Given the description of an element on the screen output the (x, y) to click on. 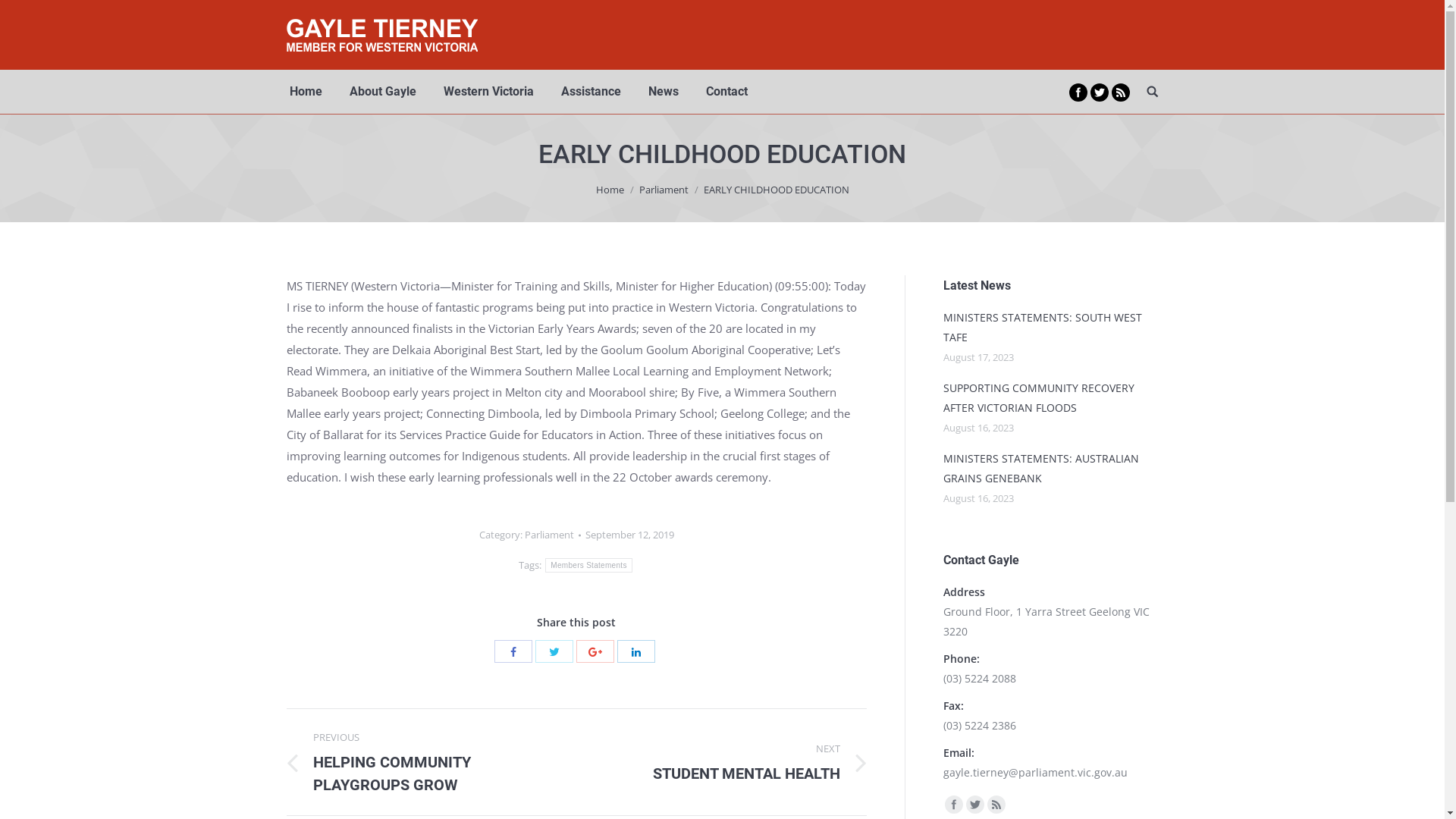
Facebook Element type: hover (513, 651)
Home Element type: text (305, 91)
Parliament Element type: text (662, 189)
Members Statements Element type: text (588, 565)
PREVIOUS
Previous post:
HELPING COMMUNITY PLAYGROUPS GROW Element type: text (420, 762)
About Gayle Element type: text (381, 91)
Facebook Element type: hover (1078, 92)
MINISTERS STATEMENTS: SOUTH WEST TAFE Element type: text (1050, 327)
Contact Element type: text (725, 91)
Home Element type: text (610, 189)
NEXT
Next post:
STUDENT MENTAL HEALTH Element type: text (732, 762)
Assistance Element type: text (591, 91)
MINISTERS STATEMENTS: AUSTRALIAN GRAINS GENEBANK Element type: text (1050, 468)
Western Victoria Element type: text (487, 91)
Go! Element type: text (18, 14)
Parliament Element type: text (549, 534)
September 12, 2019 Element type: text (629, 534)
Twitter Element type: hover (975, 804)
Google+ Element type: hover (595, 651)
  Element type: text (1152, 90)
LinkedIn Element type: hover (636, 651)
Rss Element type: hover (996, 804)
SUPPORTING COMMUNITY RECOVERY AFTER VICTORIAN FLOODS Element type: text (1050, 397)
News Element type: text (662, 91)
Facebook Element type: hover (953, 804)
Twitter Element type: hover (554, 651)
Rss Element type: hover (1120, 92)
Twitter Element type: hover (1099, 92)
